Given the description of an element on the screen output the (x, y) to click on. 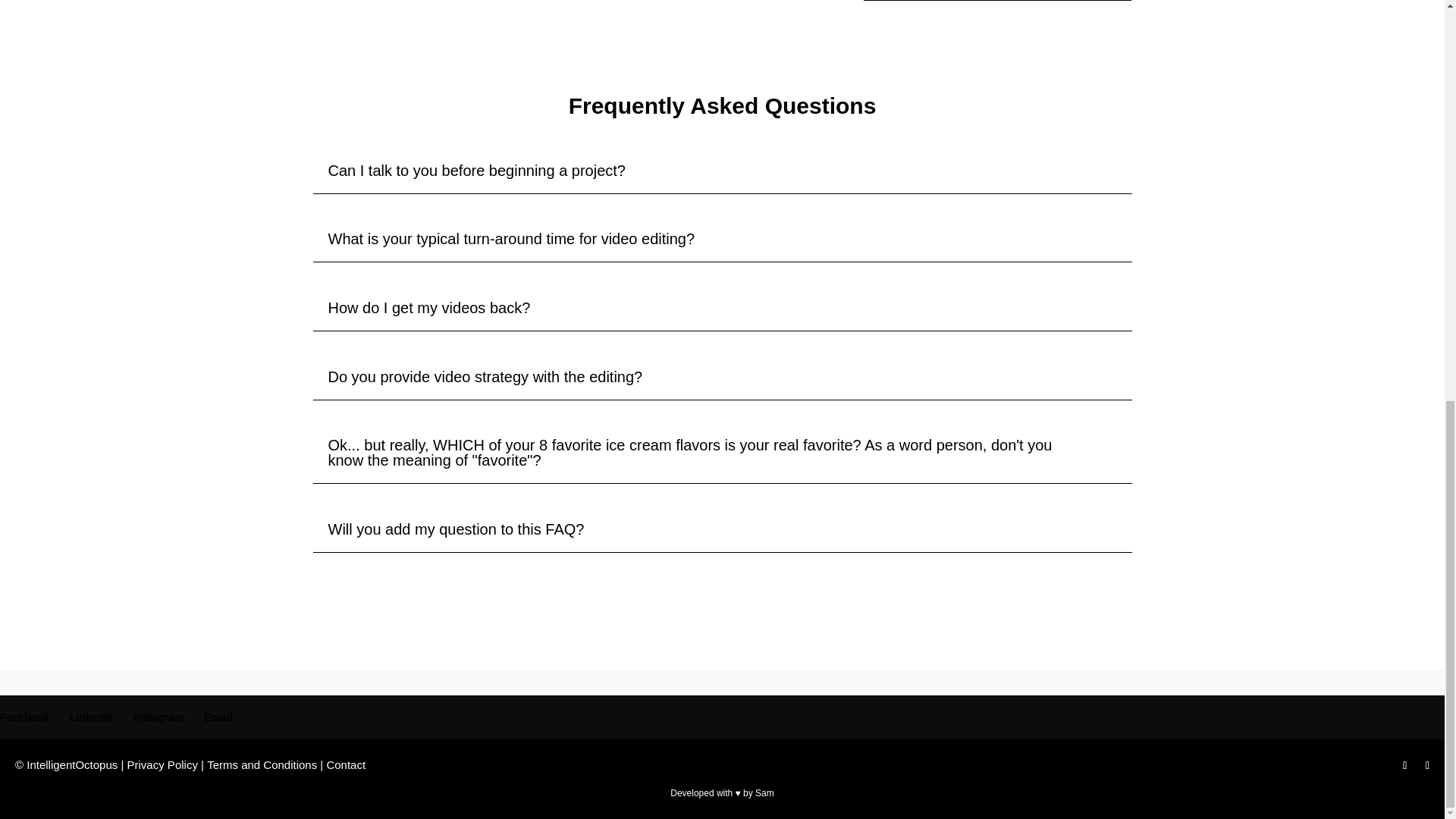
Terms and Conditions (261, 764)
Contact (345, 764)
Email (217, 717)
Privacy Policy (163, 764)
Facebook (24, 717)
Instagram (158, 717)
LinkedIn (91, 717)
Sam (764, 792)
